Given the description of an element on the screen output the (x, y) to click on. 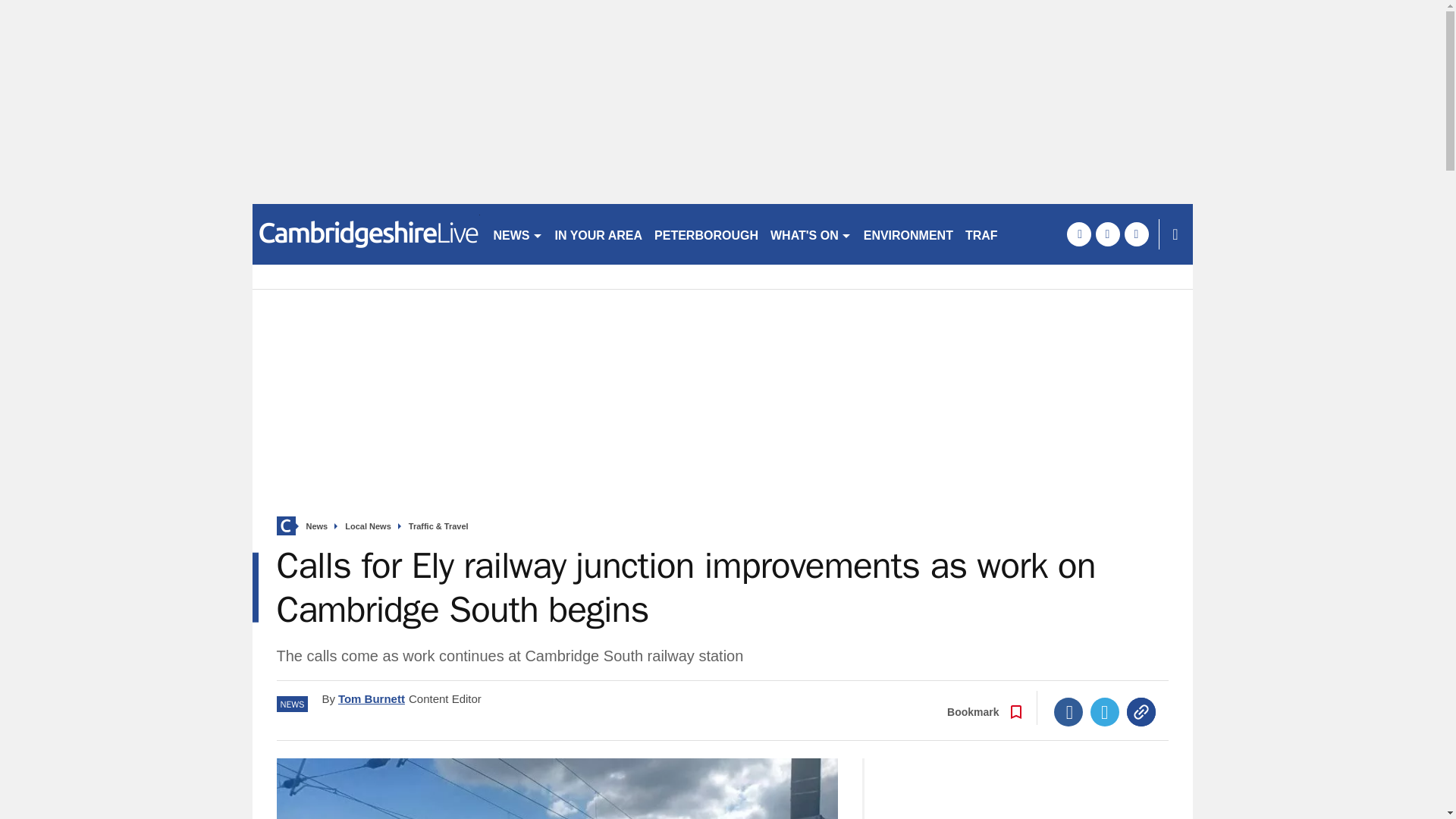
facebook (1077, 233)
cambridgenews (365, 233)
Facebook (1068, 711)
IN YOUR AREA (598, 233)
NEWS (517, 233)
Twitter (1104, 711)
WHAT'S ON (810, 233)
ENVIRONMENT (908, 233)
PETERBOROUGH (705, 233)
instagram (1136, 233)
